Given the description of an element on the screen output the (x, y) to click on. 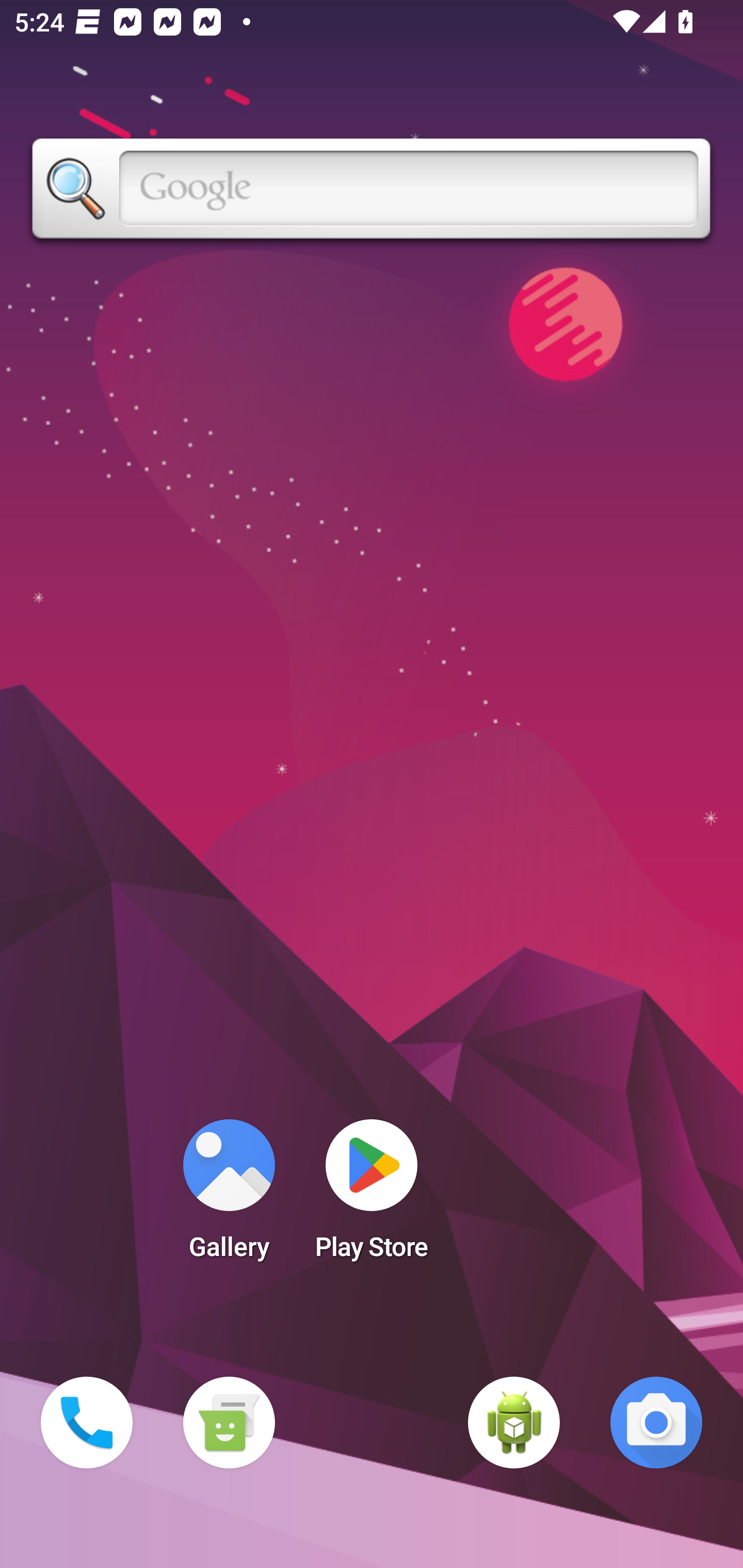
Gallery (228, 1195)
Play Store (371, 1195)
Phone (86, 1422)
Messaging (228, 1422)
WebView Browser Tester (513, 1422)
Camera (656, 1422)
